Given the description of an element on the screen output the (x, y) to click on. 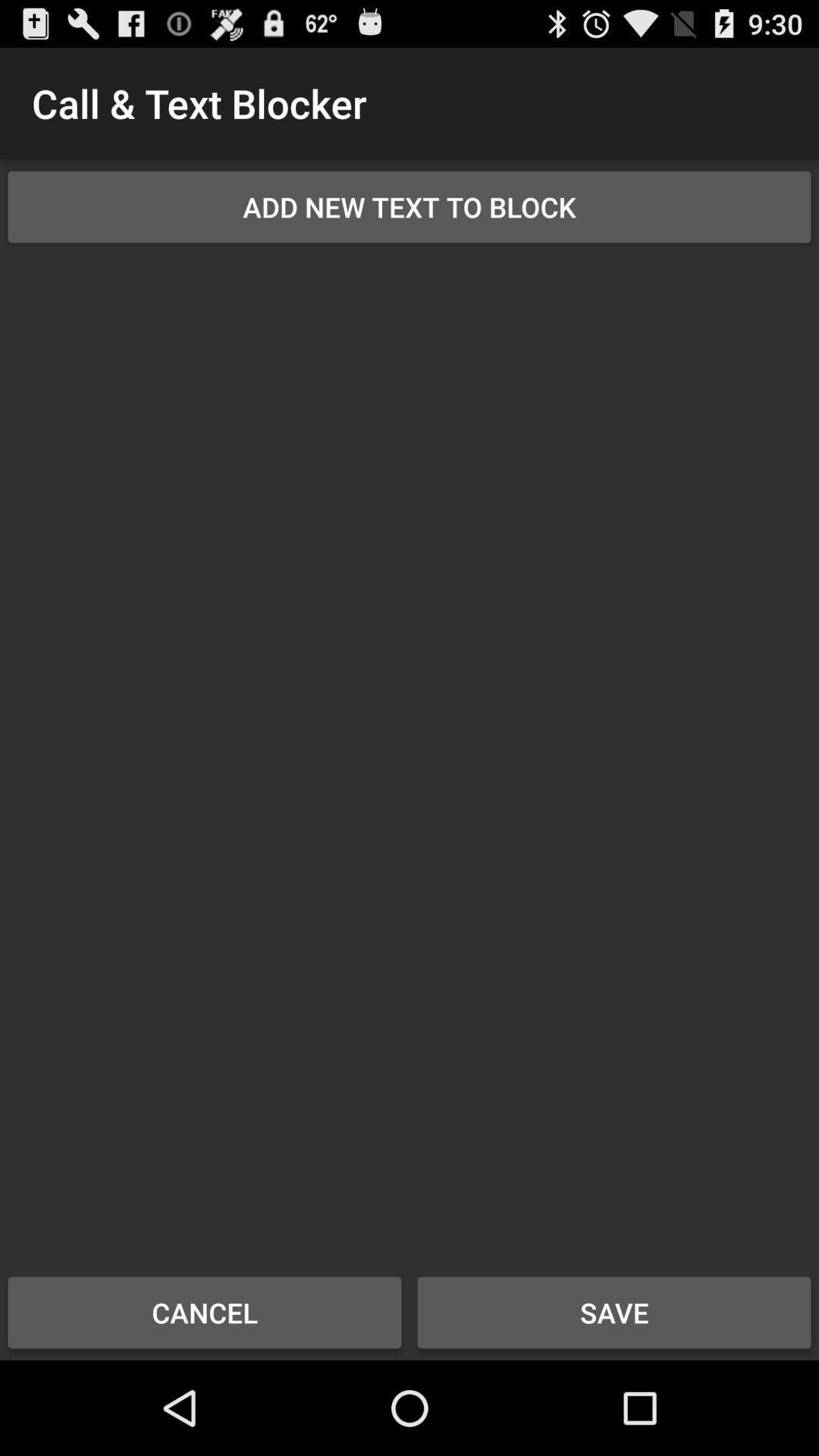
choose the icon to the right of cancel icon (614, 1312)
